Given the description of an element on the screen output the (x, y) to click on. 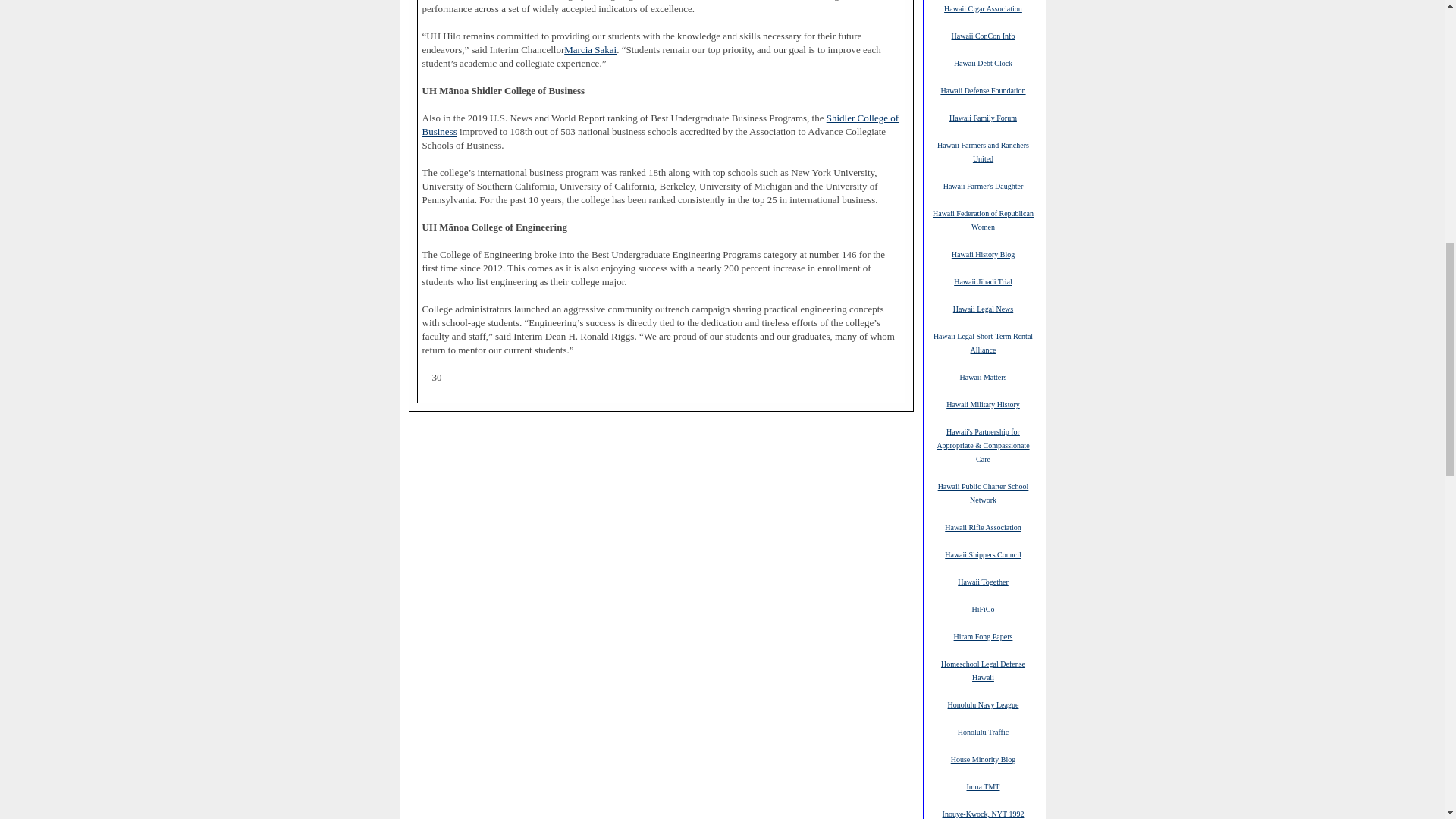
Marcia Sakai (589, 50)
Hawaii Cigar Association (982, 8)
Shidler College of Business (660, 125)
Hawaii ConCon Info (983, 35)
